Given the description of an element on the screen output the (x, y) to click on. 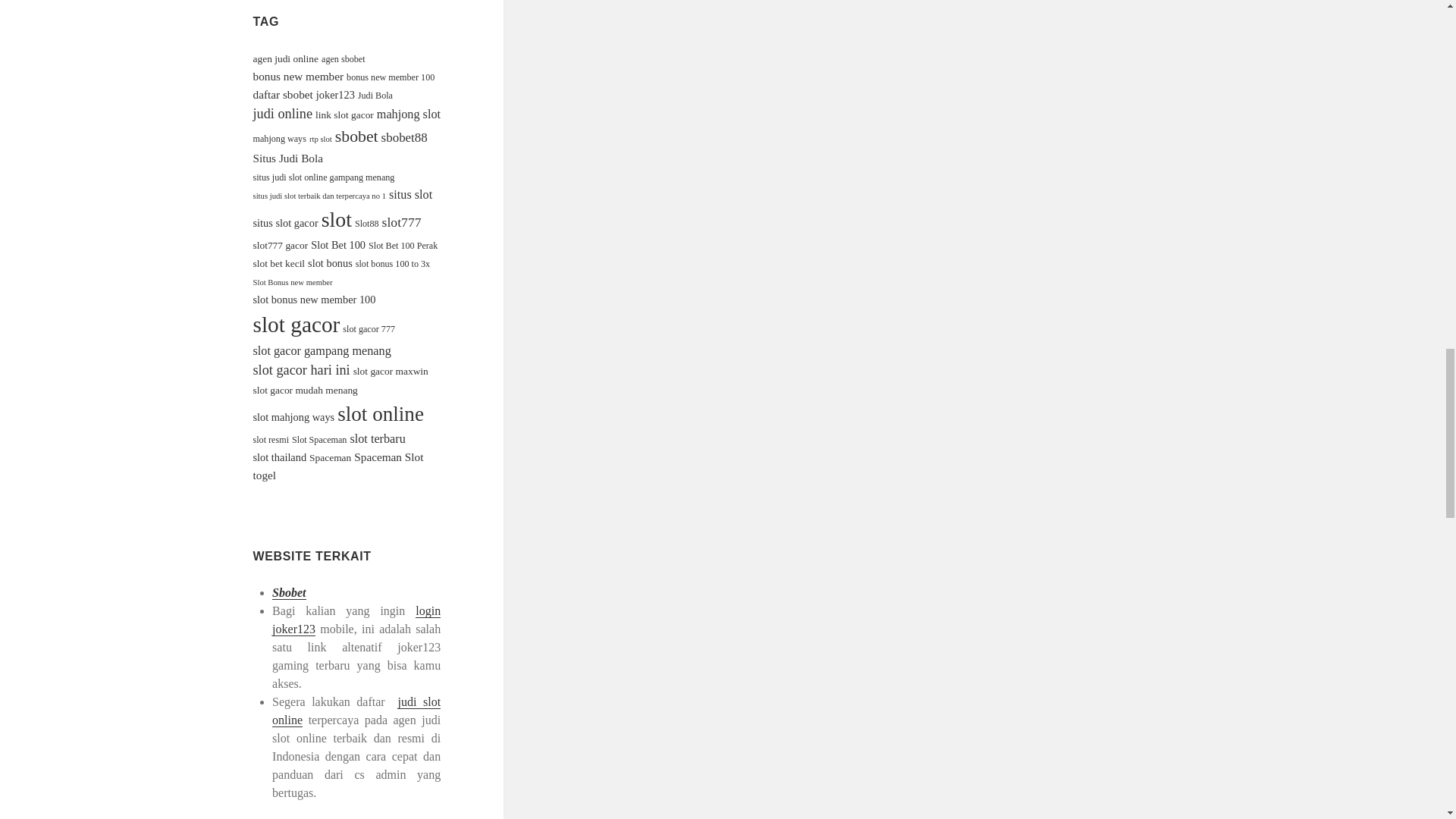
bonus new member 100 (389, 77)
agen sbobet (343, 59)
bonus new member (298, 75)
agen judi online (285, 58)
daftar sbobet (283, 93)
